Given the description of an element on the screen output the (x, y) to click on. 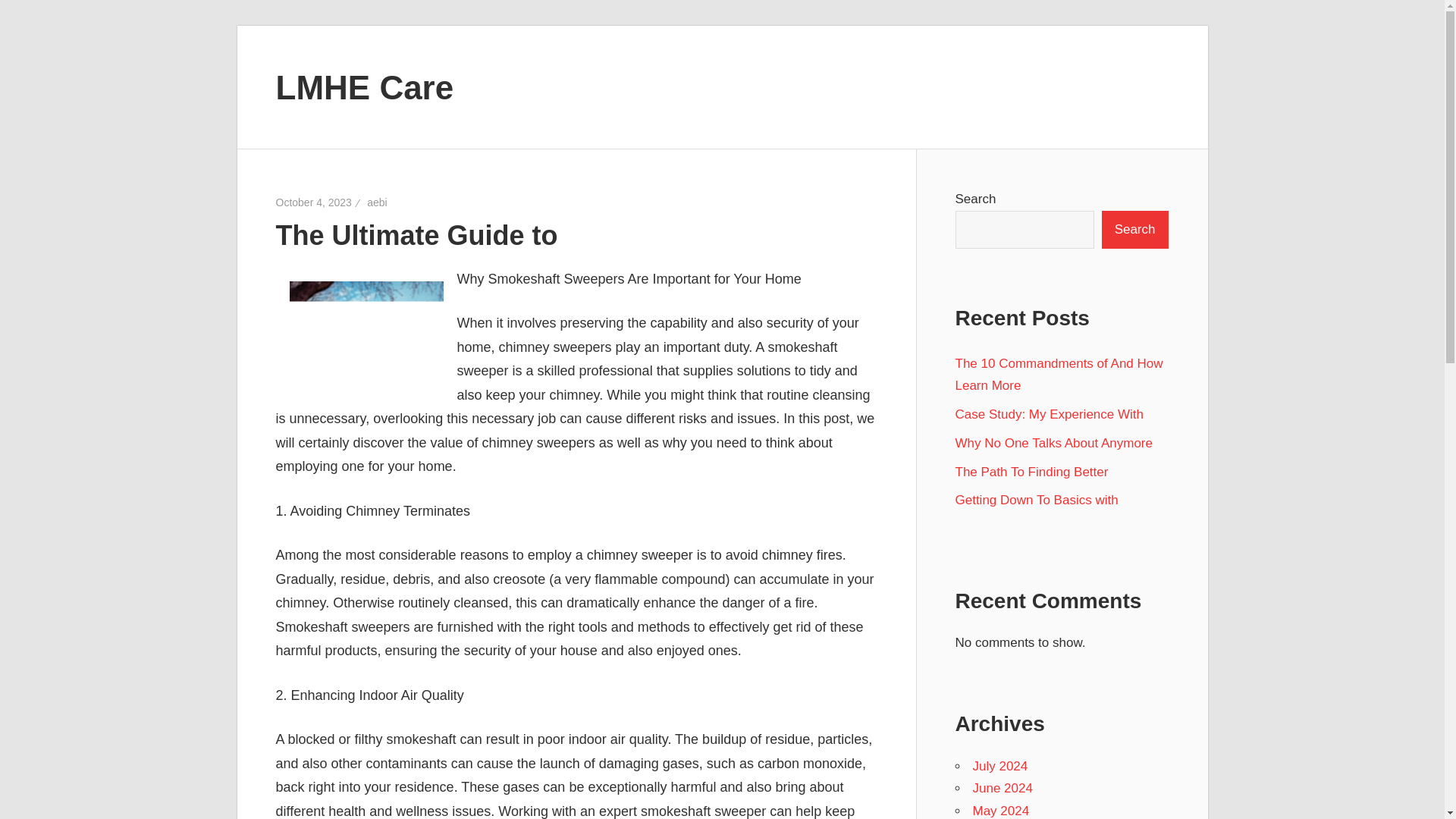
Getting Down To Basics with (1036, 499)
5:54 pm (314, 202)
Why No One Talks About Anymore (1054, 442)
July 2024 (999, 766)
June 2024 (1002, 788)
May 2024 (1000, 810)
Search (1135, 229)
View all posts by aebi (376, 202)
The 10 Commandments of And How Learn More (1059, 374)
October 4, 2023 (314, 202)
aebi (376, 202)
Case Study: My Experience With (1048, 414)
LMHE Care (365, 86)
The Path To Finding Better (1031, 472)
